Given the description of an element on the screen output the (x, y) to click on. 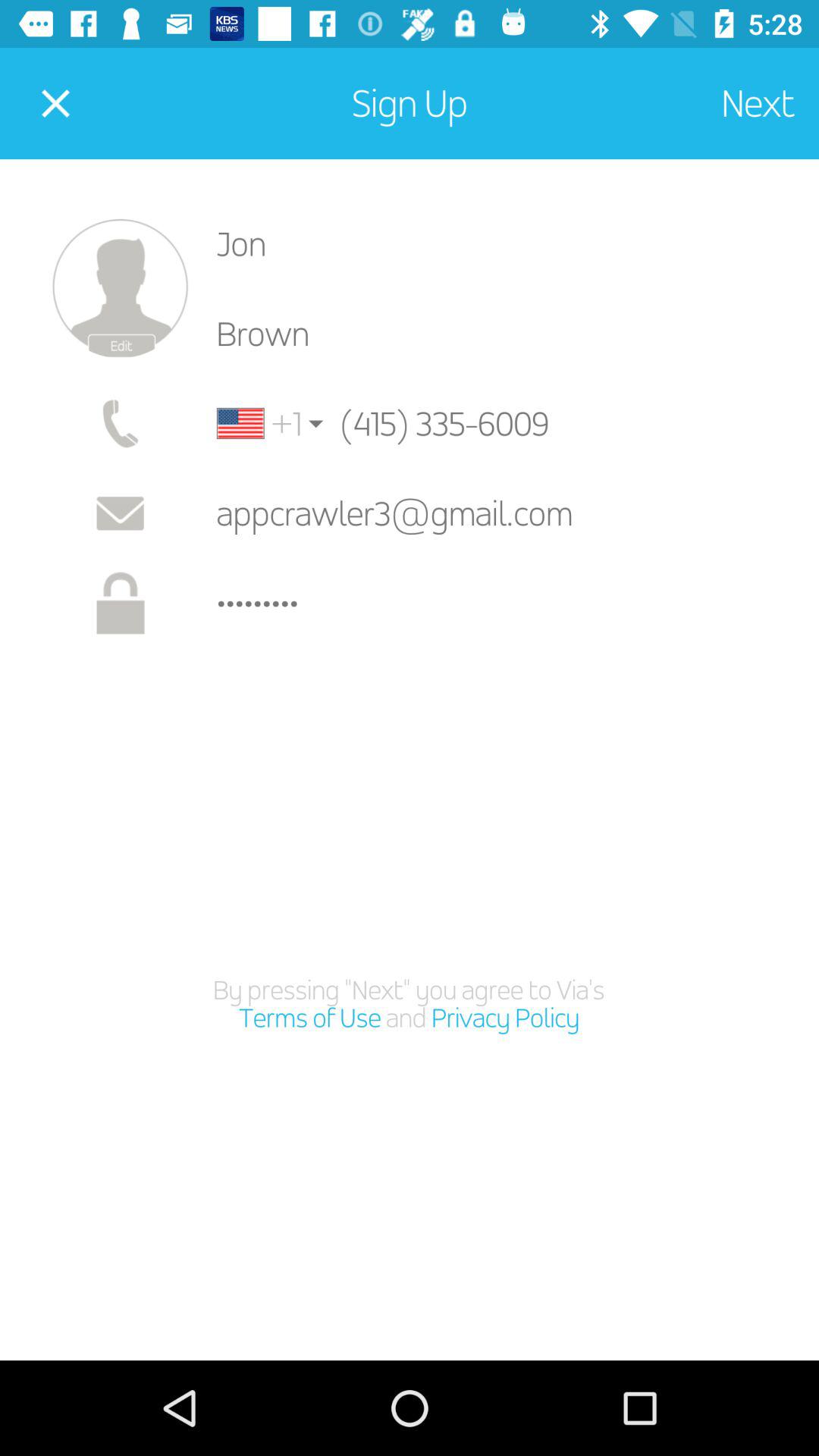
flip to the jon icon (505, 243)
